Given the description of an element on the screen output the (x, y) to click on. 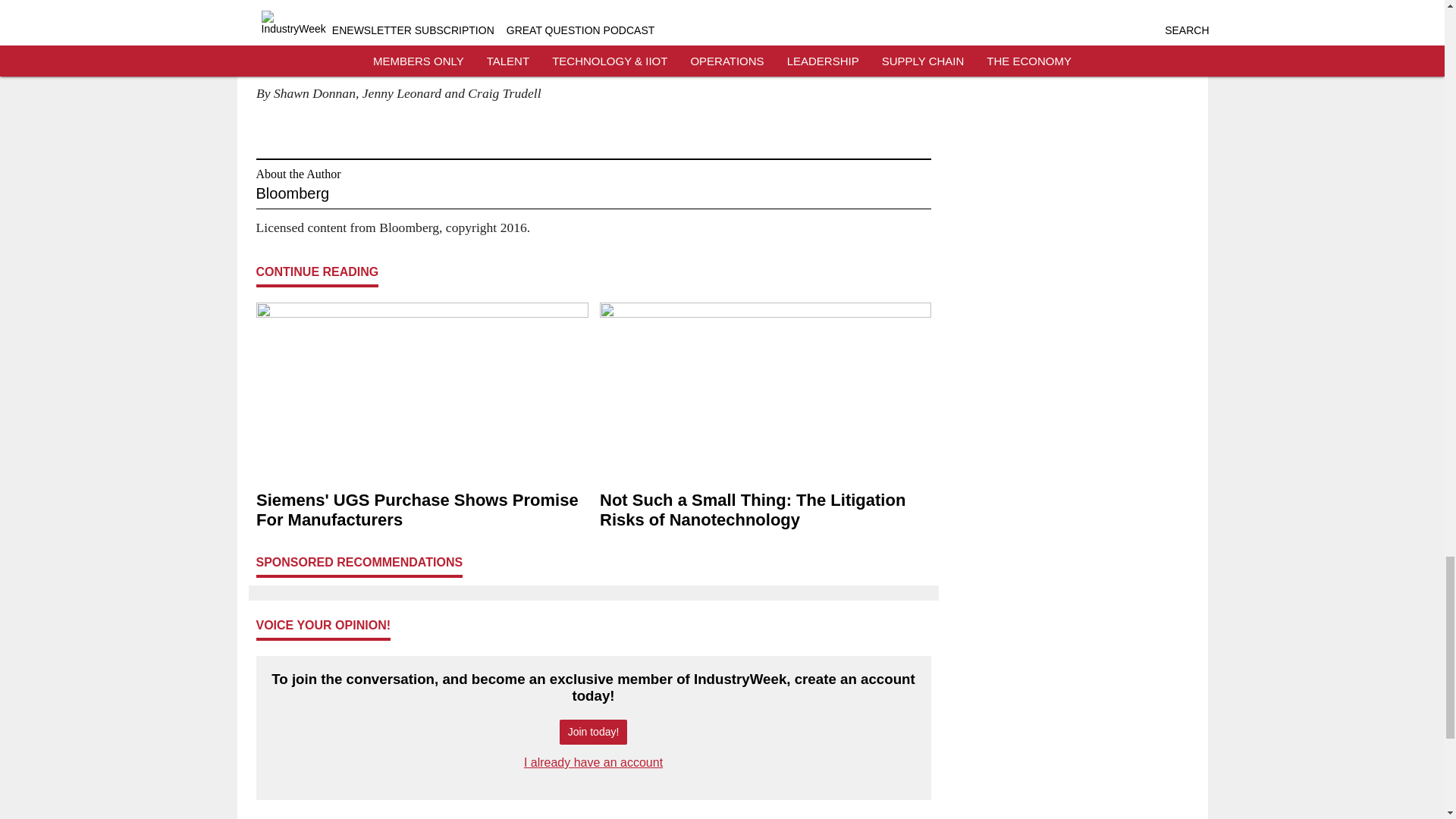
I already have an account (593, 762)
Join today! (593, 731)
Siemens' UGS Purchase Shows Promise For Manufacturers (422, 509)
